Given the description of an element on the screen output the (x, y) to click on. 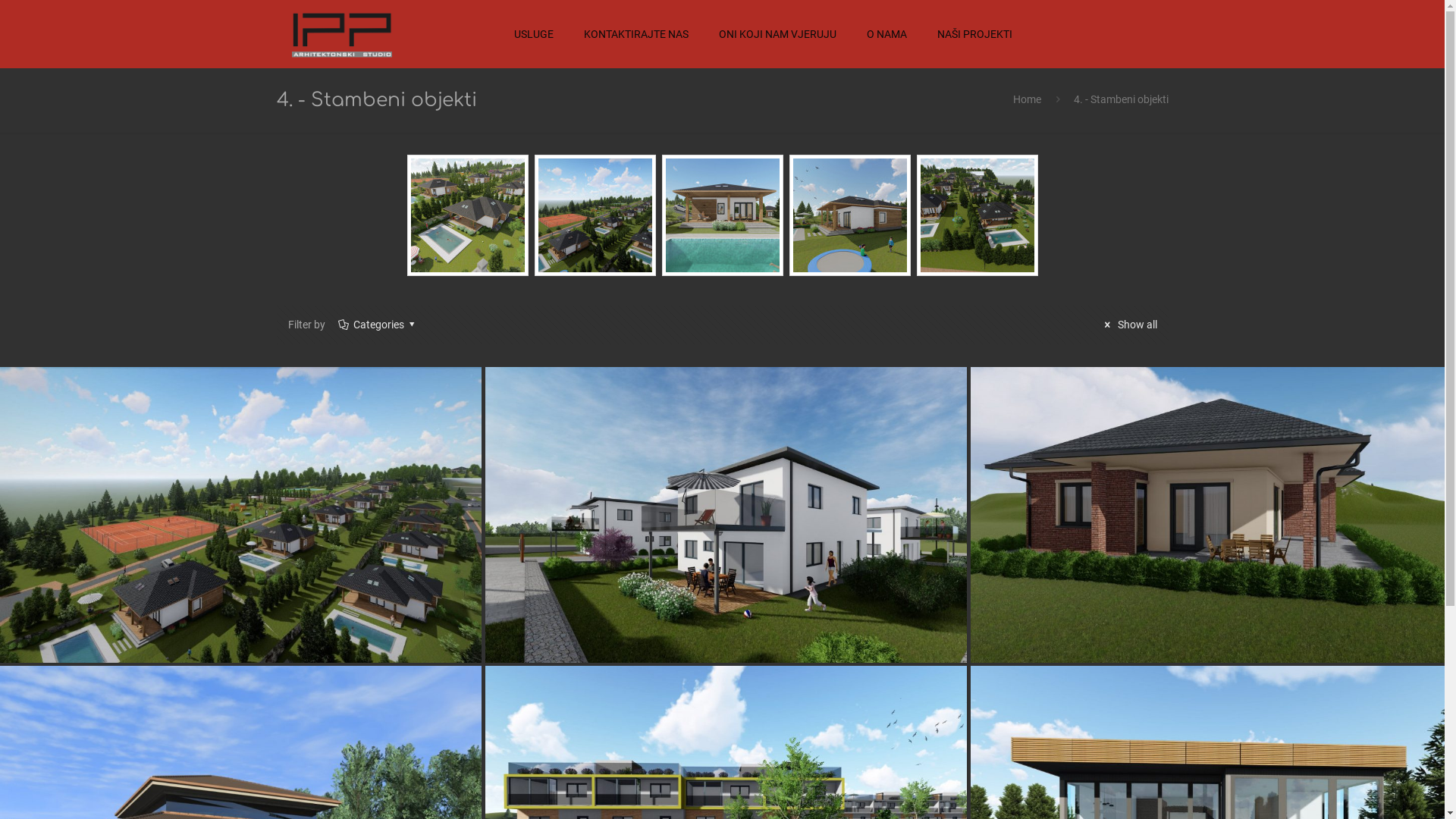
Categories Element type: text (378, 324)
IPP d.o.o Element type: hover (341, 34)
USLUGE Element type: text (533, 34)
O NAMA Element type: text (885, 34)
KONTAKTIRAJTE NAS Element type: text (635, 34)
Home Element type: text (1027, 99)
Show all Element type: text (1128, 324)
ONI KOJI NAM VJERUJU Element type: text (777, 34)
